Given the description of an element on the screen output the (x, y) to click on. 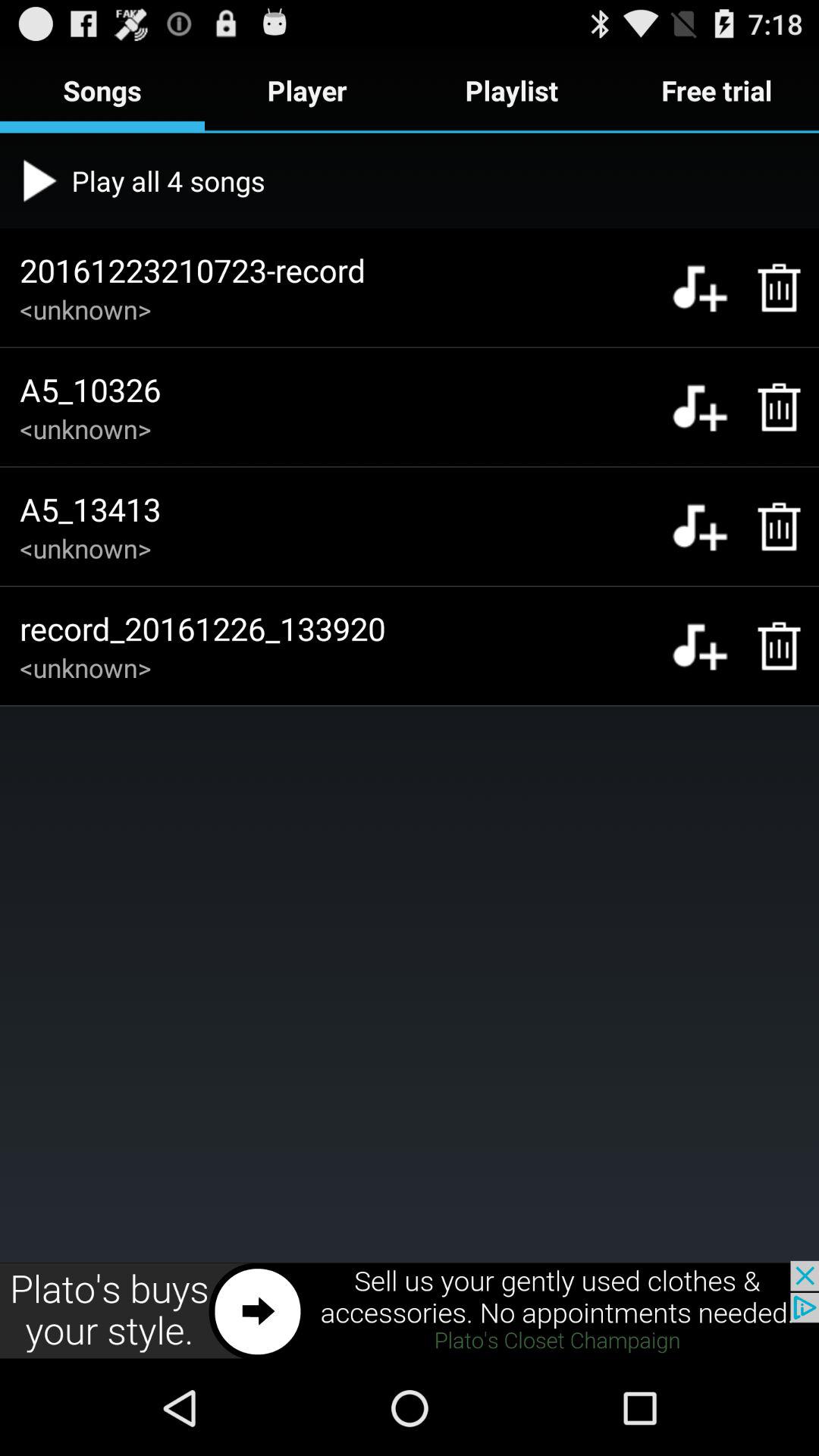
delete button (771, 526)
